Given the description of an element on the screen output the (x, y) to click on. 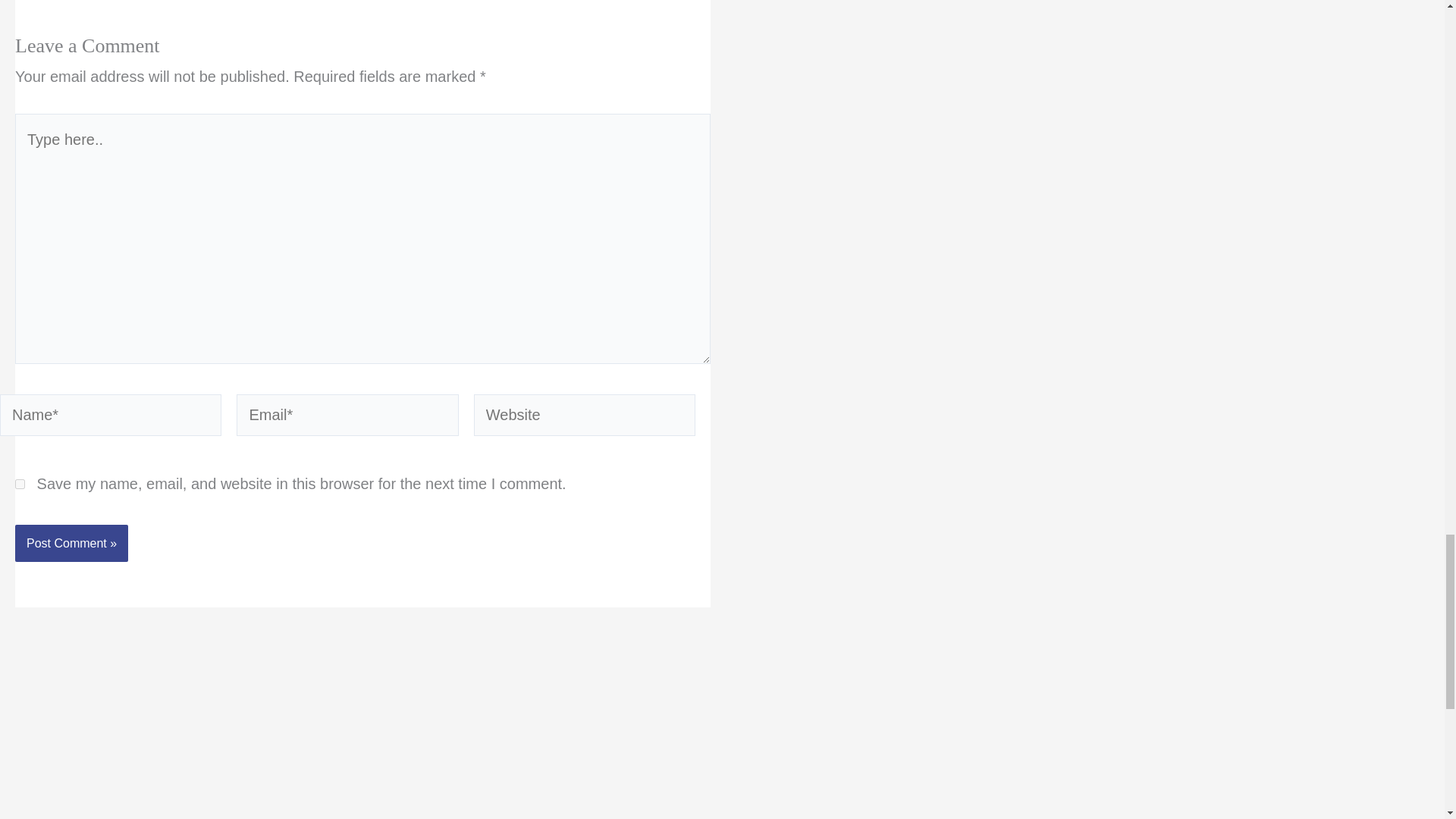
yes (19, 483)
